Given the description of an element on the screen output the (x, y) to click on. 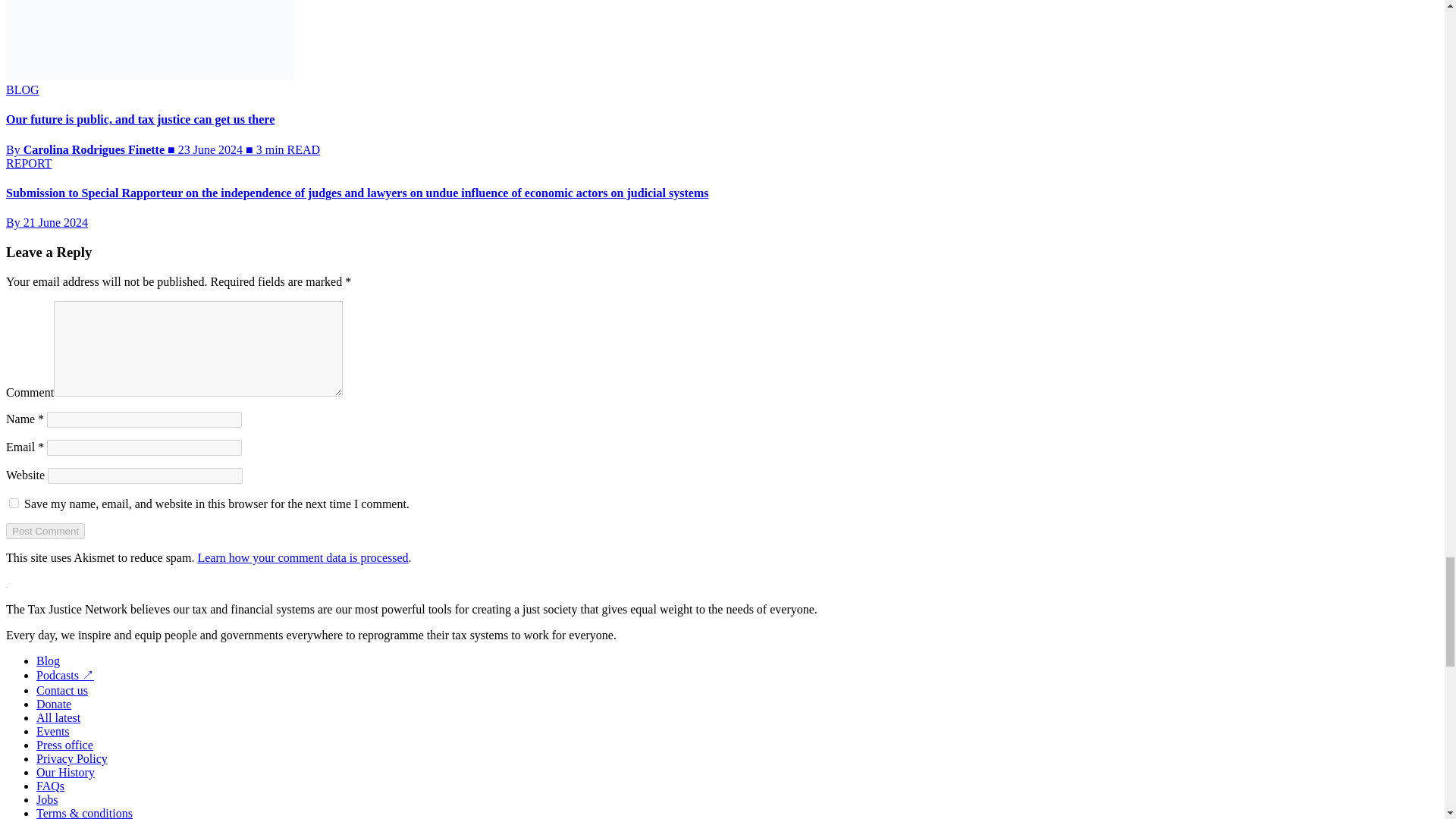
yes (13, 502)
Post Comment (44, 530)
